Given the description of an element on the screen output the (x, y) to click on. 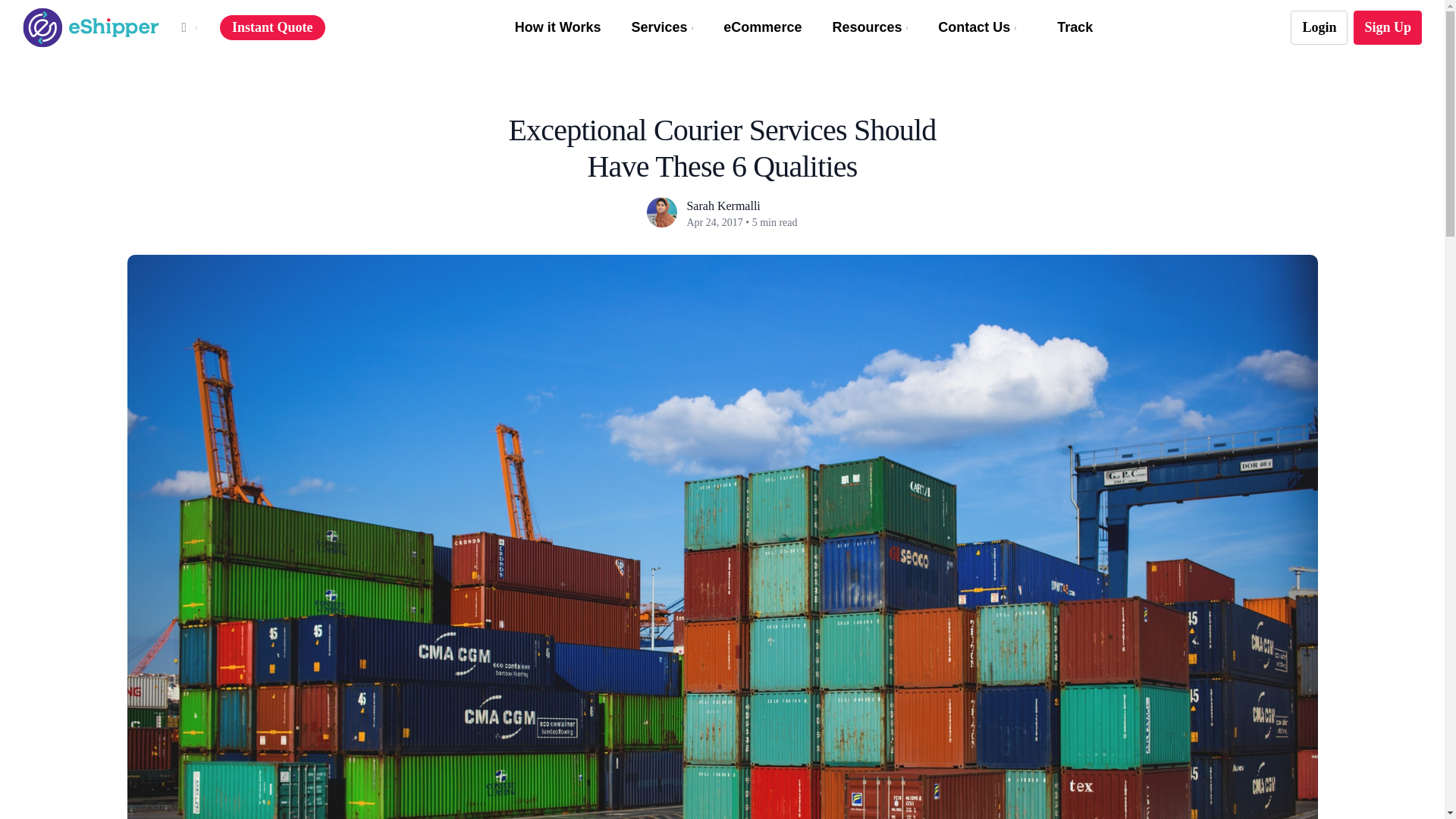
Start search (709, 5)
Contact Us (976, 27)
eCommerce (762, 27)
How it Works (558, 27)
Services (661, 27)
Instant Quote (271, 27)
Resources (869, 27)
